Given the description of an element on the screen output the (x, y) to click on. 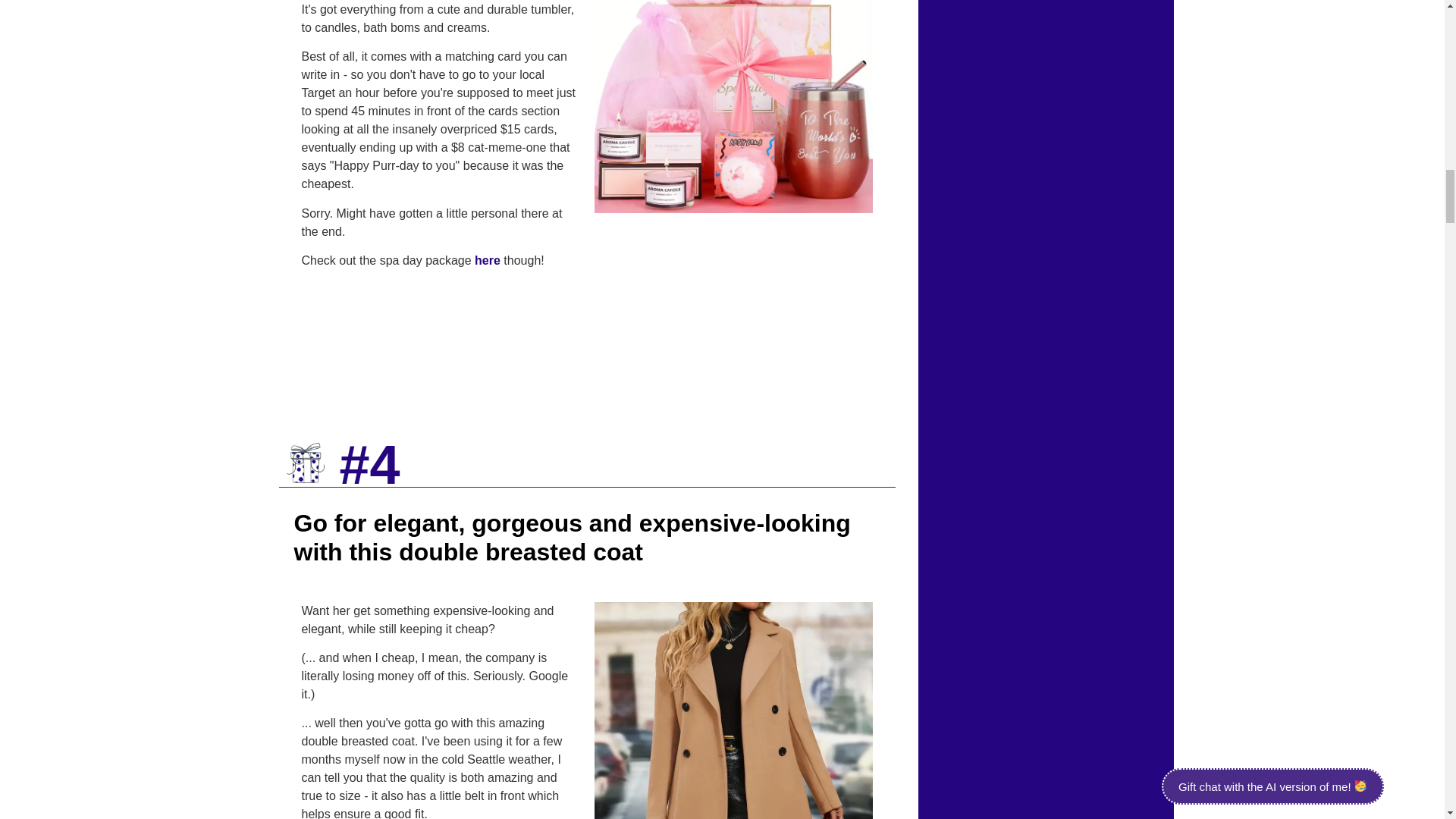
here (487, 259)
